Given the description of an element on the screen output the (x, y) to click on. 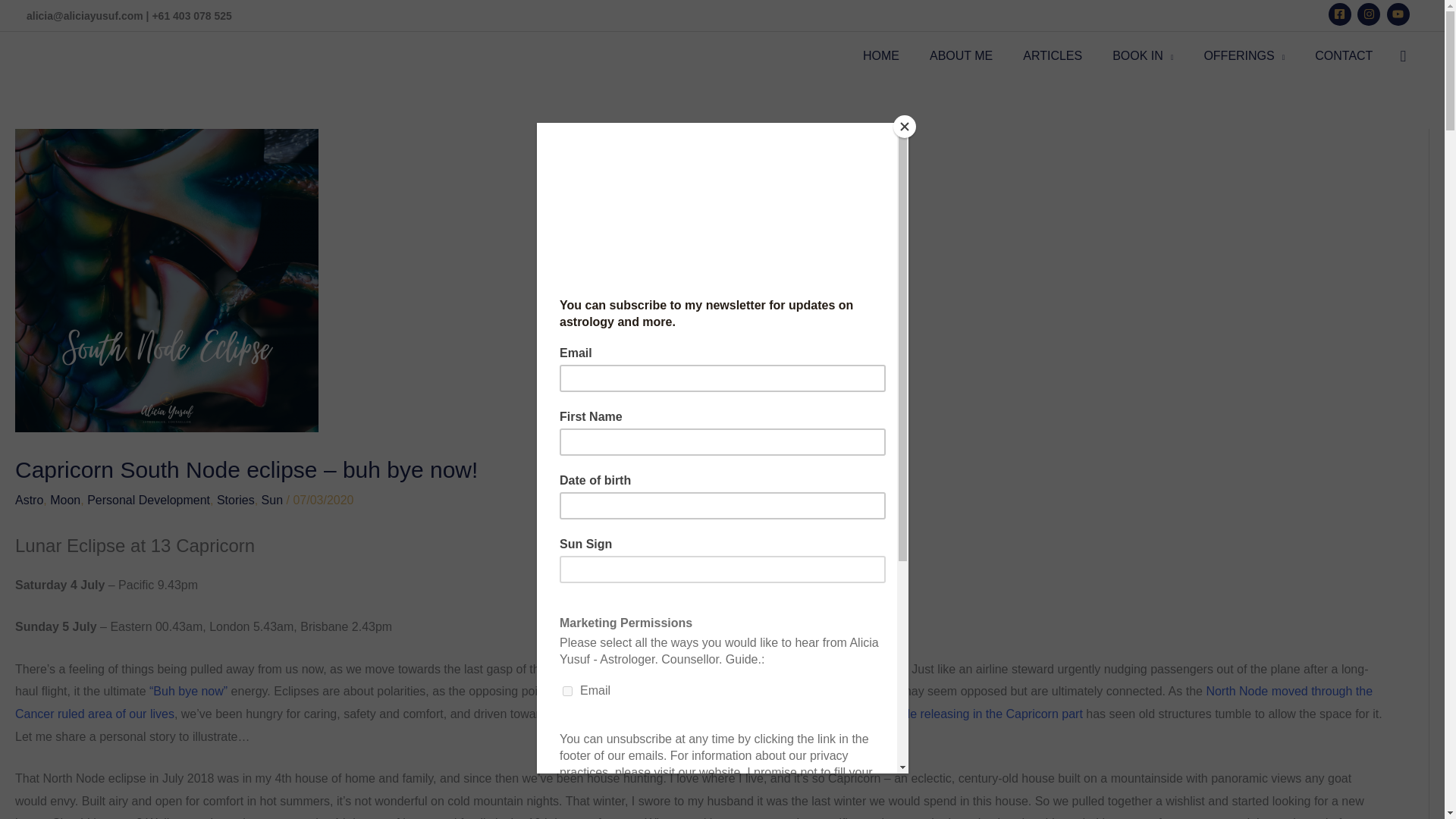
OFFERINGS (1244, 55)
Astro (28, 499)
BOOK IN (1142, 55)
Stories (235, 499)
South Node releasing in the Capricorn part (968, 713)
ARTICLES (1052, 55)
Sun (272, 499)
CONTACT (1343, 55)
Personal Development (148, 499)
ABOUT ME (960, 55)
Moon (64, 499)
North Node moved through the Cancer ruled area of our lives (693, 702)
HOME (880, 55)
